Given the description of an element on the screen output the (x, y) to click on. 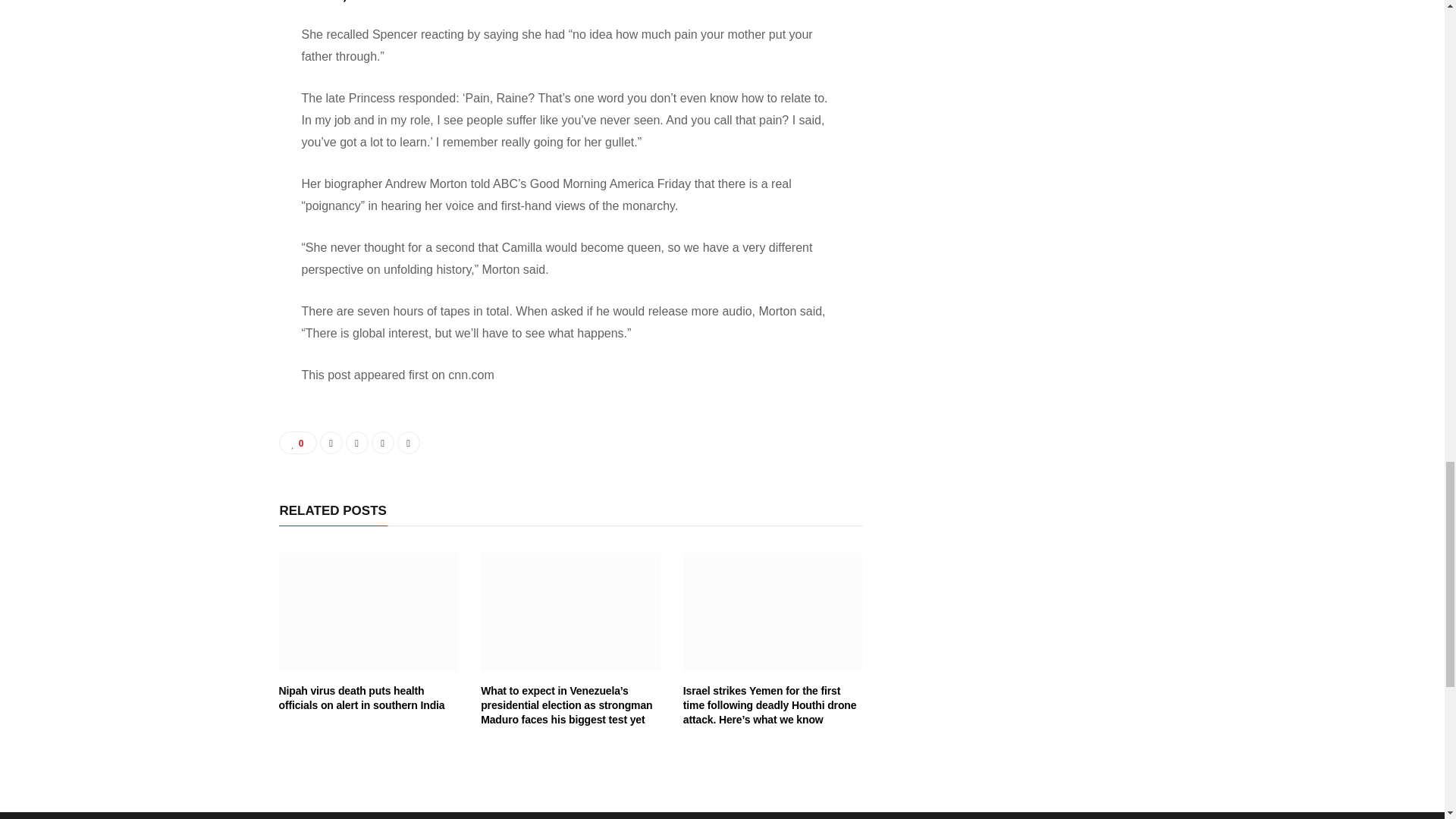
0 (298, 442)
